Given the description of an element on the screen output the (x, y) to click on. 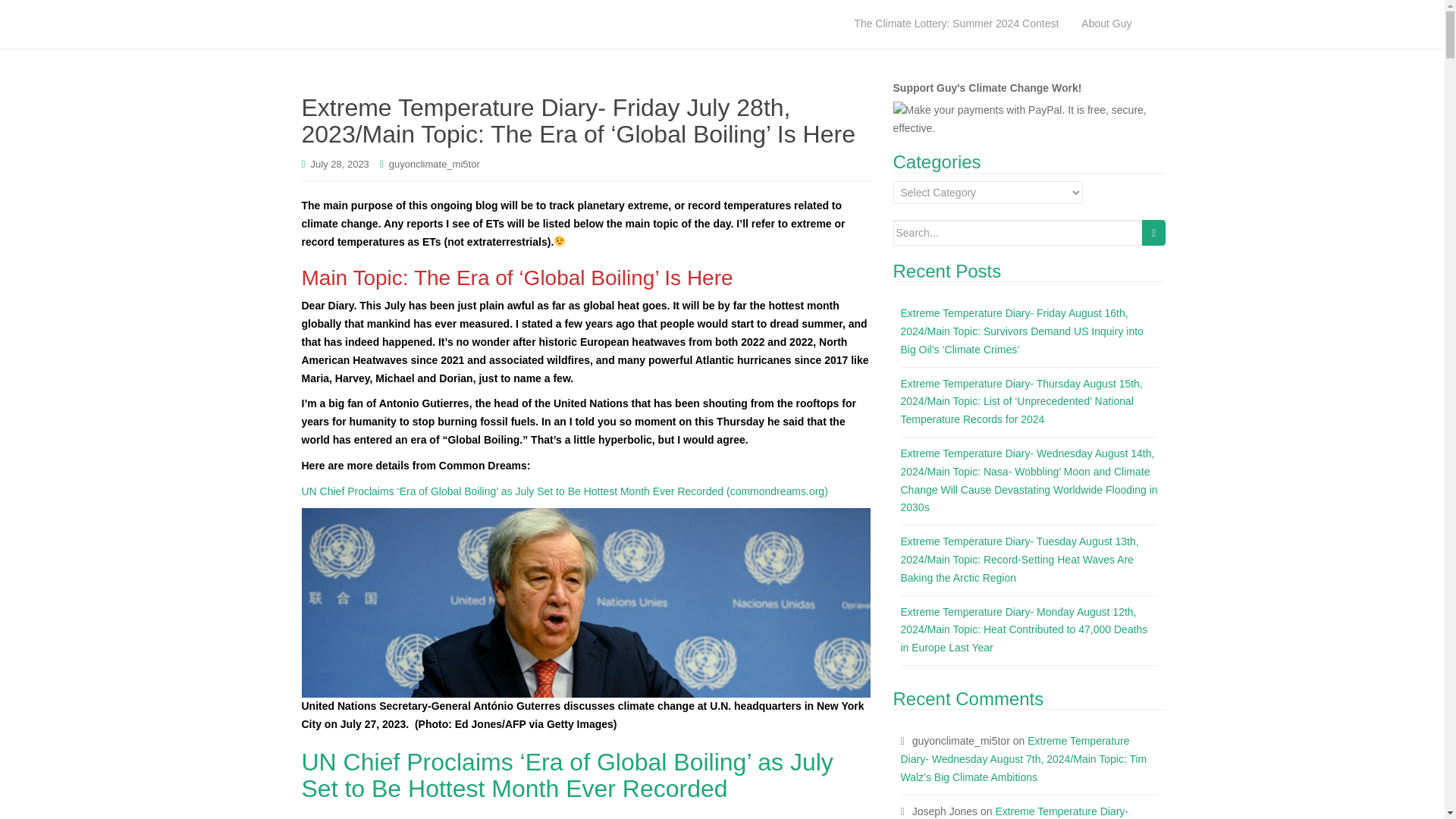
About Guy (1106, 24)
The Climate Lottery: Summer 2024 Contest (956, 24)
July 28, 2023 (340, 163)
About Guy (1106, 24)
The Climate Lottery: Summer 2024 Contest (956, 24)
